Given the description of an element on the screen output the (x, y) to click on. 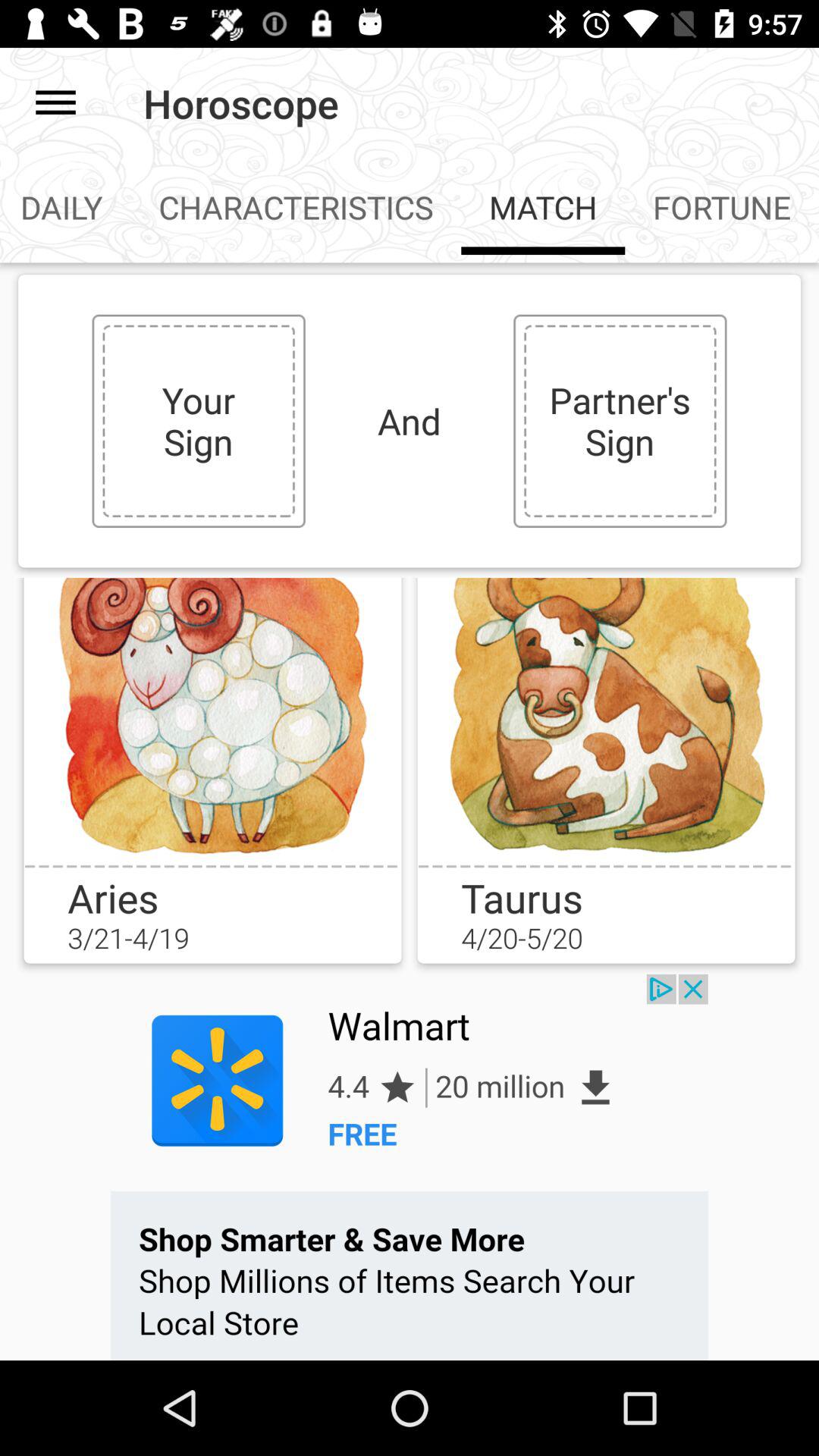
advertisement page (409, 1167)
